Given the description of an element on the screen output the (x, y) to click on. 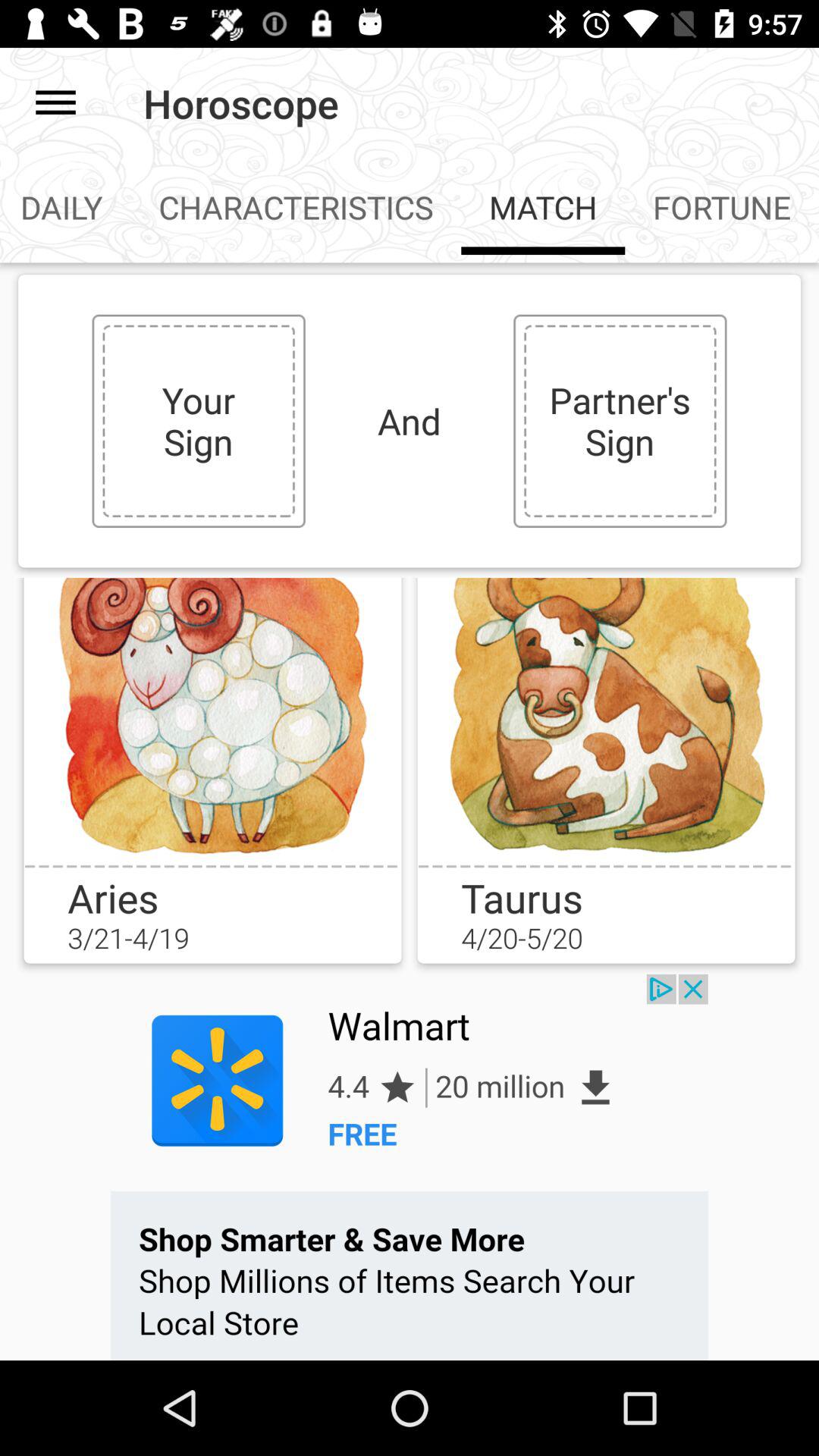
advertisement page (409, 1167)
